Given the description of an element on the screen output the (x, y) to click on. 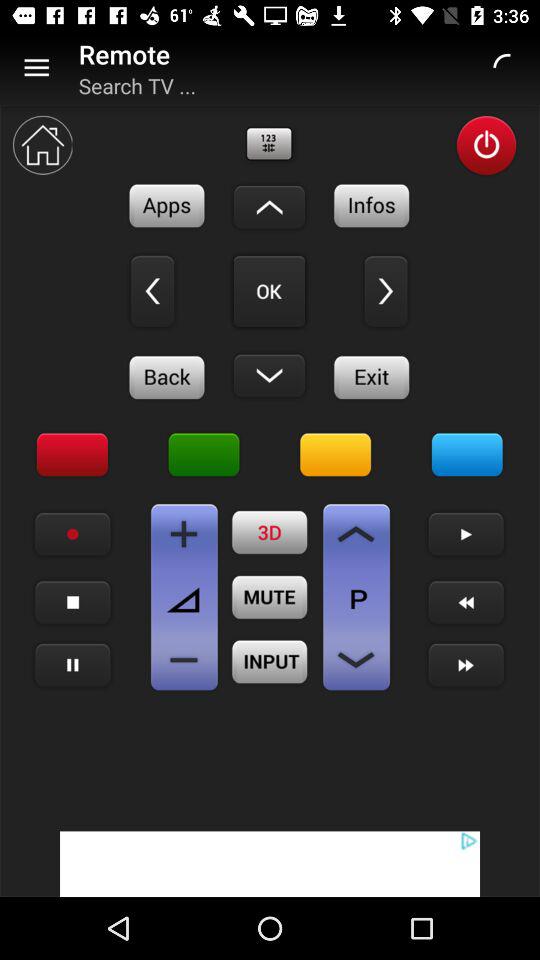
bring up the tv menu (467, 455)
